Given the description of an element on the screen output the (x, y) to click on. 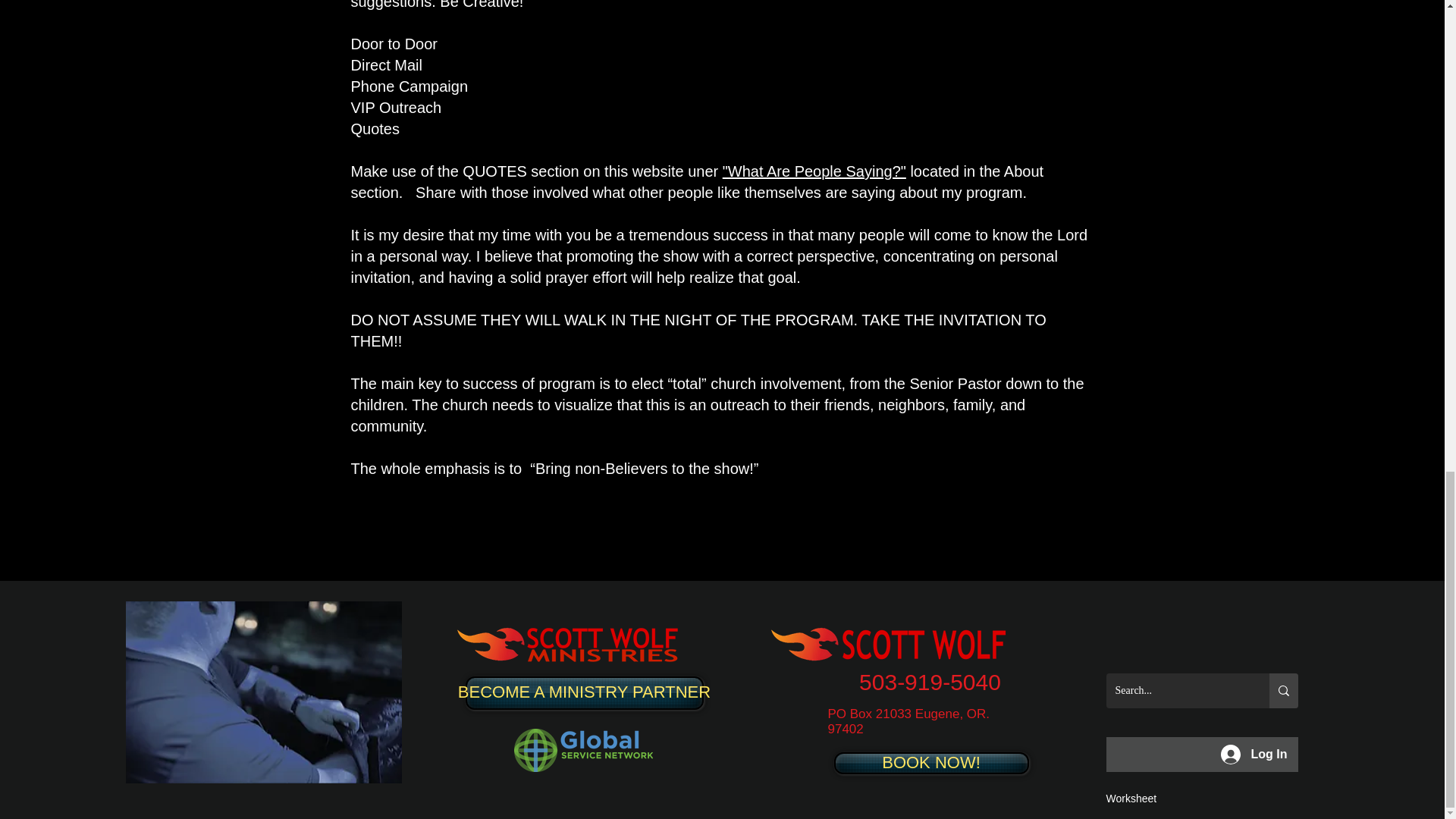
BOOK NOW! (931, 762)
Scott Wolf Logo.png (896, 644)
Log In (1253, 754)
Scott Wolf Ministries Logo.png (583, 644)
BECOME A MINISTRY PARTNER (584, 693)
Worksheet (1130, 798)
"What Are People Saying?" (813, 170)
